Given the description of an element on the screen output the (x, y) to click on. 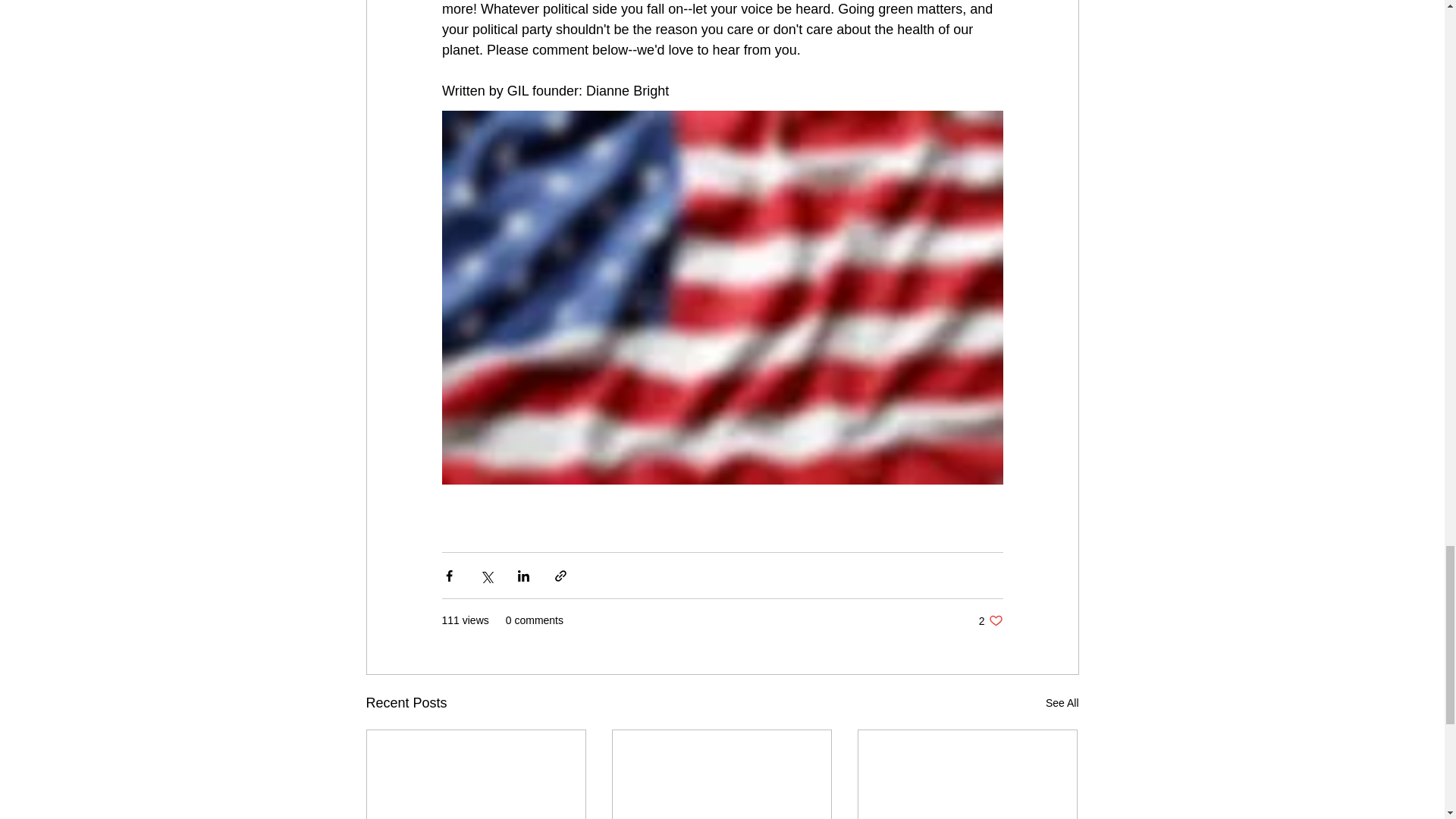
See All (990, 620)
